Given the description of an element on the screen output the (x, y) to click on. 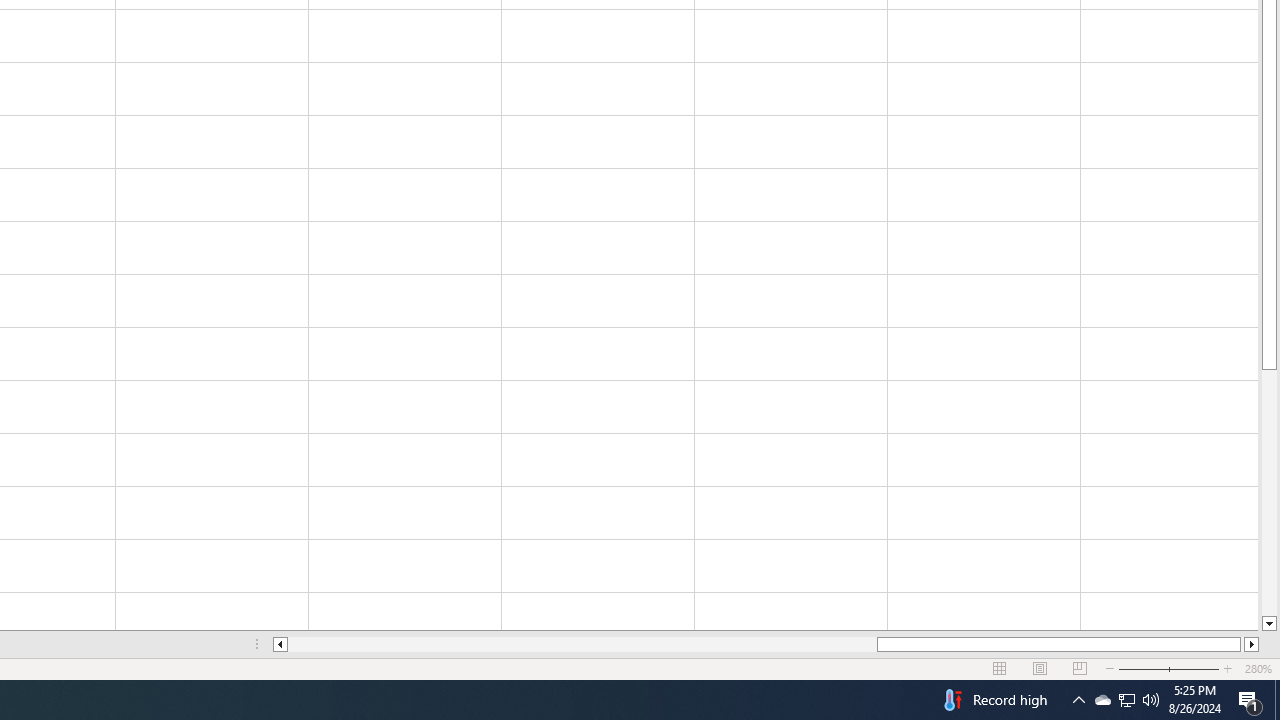
Page down (1268, 493)
Class: NetUIScrollBar (765, 644)
Zoom Out (1156, 668)
Page left (582, 644)
Column right (1252, 644)
Column left (279, 644)
Zoom (1168, 668)
Zoom In (1227, 668)
Page Break Preview (1079, 668)
Normal (1000, 668)
Line down (1268, 624)
